Given the description of an element on the screen output the (x, y) to click on. 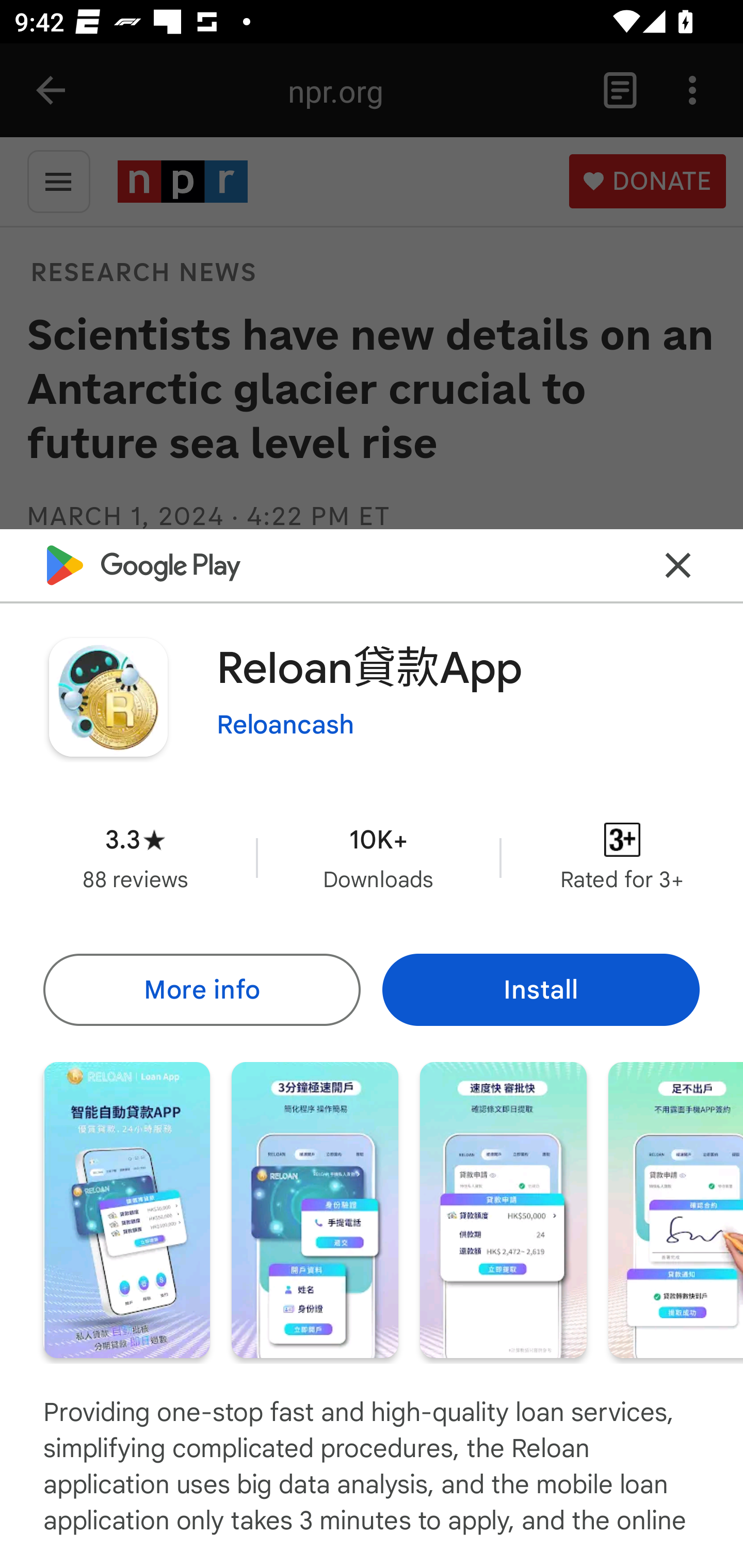
Close (677, 565)
Image of app or game icon for Reloan貸款App (108, 696)
Reloancash (284, 724)
More info (201, 989)
Install (540, 989)
Screenshot "1" of "5" (126, 1209)
Screenshot "2" of "5" (314, 1209)
Screenshot "3" of "5" (502, 1209)
Screenshot "4" of "5" (675, 1209)
